Given the description of an element on the screen output the (x, y) to click on. 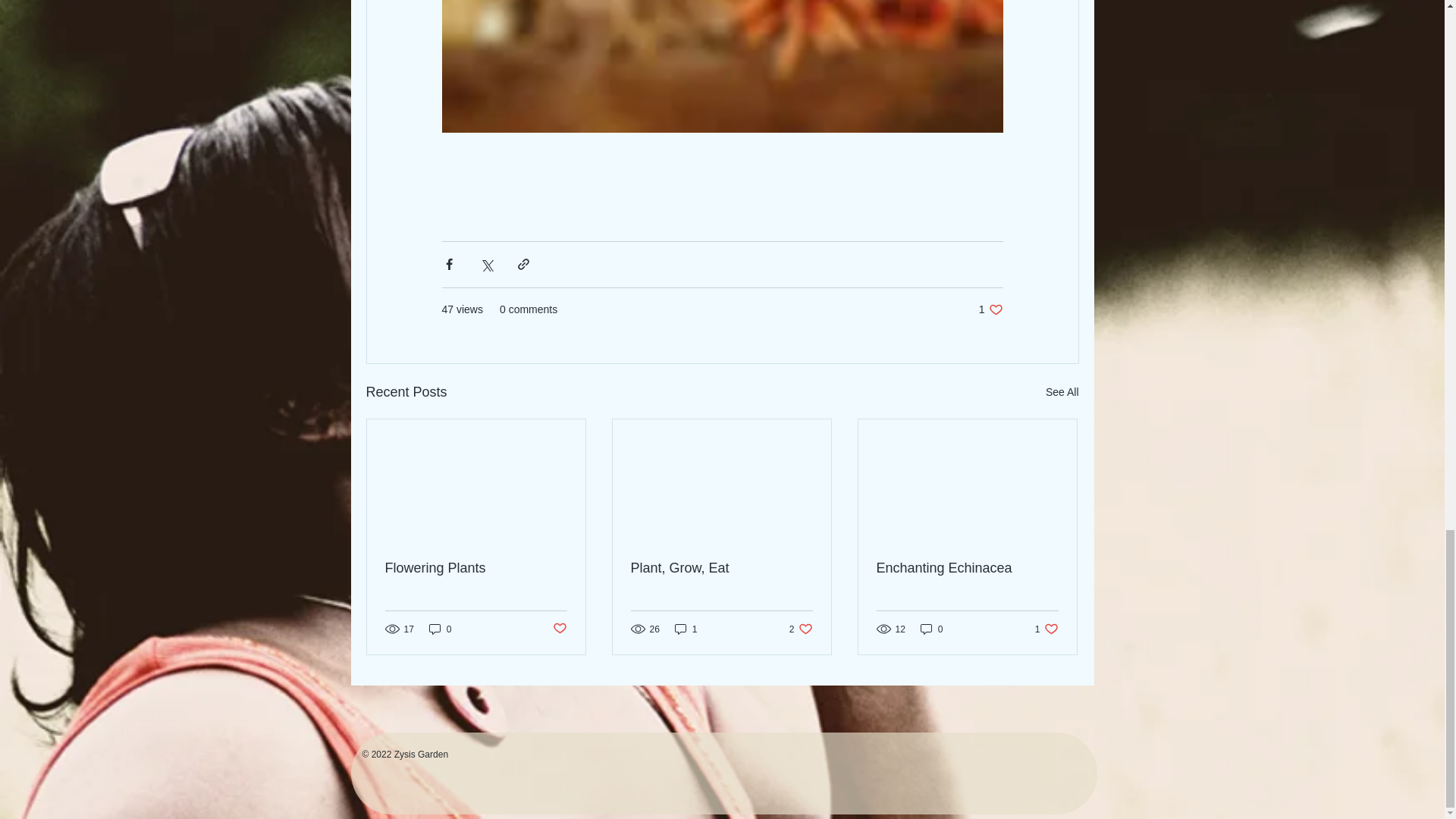
0 (931, 628)
Post not marked as liked (558, 628)
Flowering Plants (1046, 628)
0 (476, 568)
Enchanting Echinacea (800, 628)
See All (440, 628)
1 (967, 568)
Plant, Grow, Eat (1061, 392)
